Given the description of an element on the screen output the (x, y) to click on. 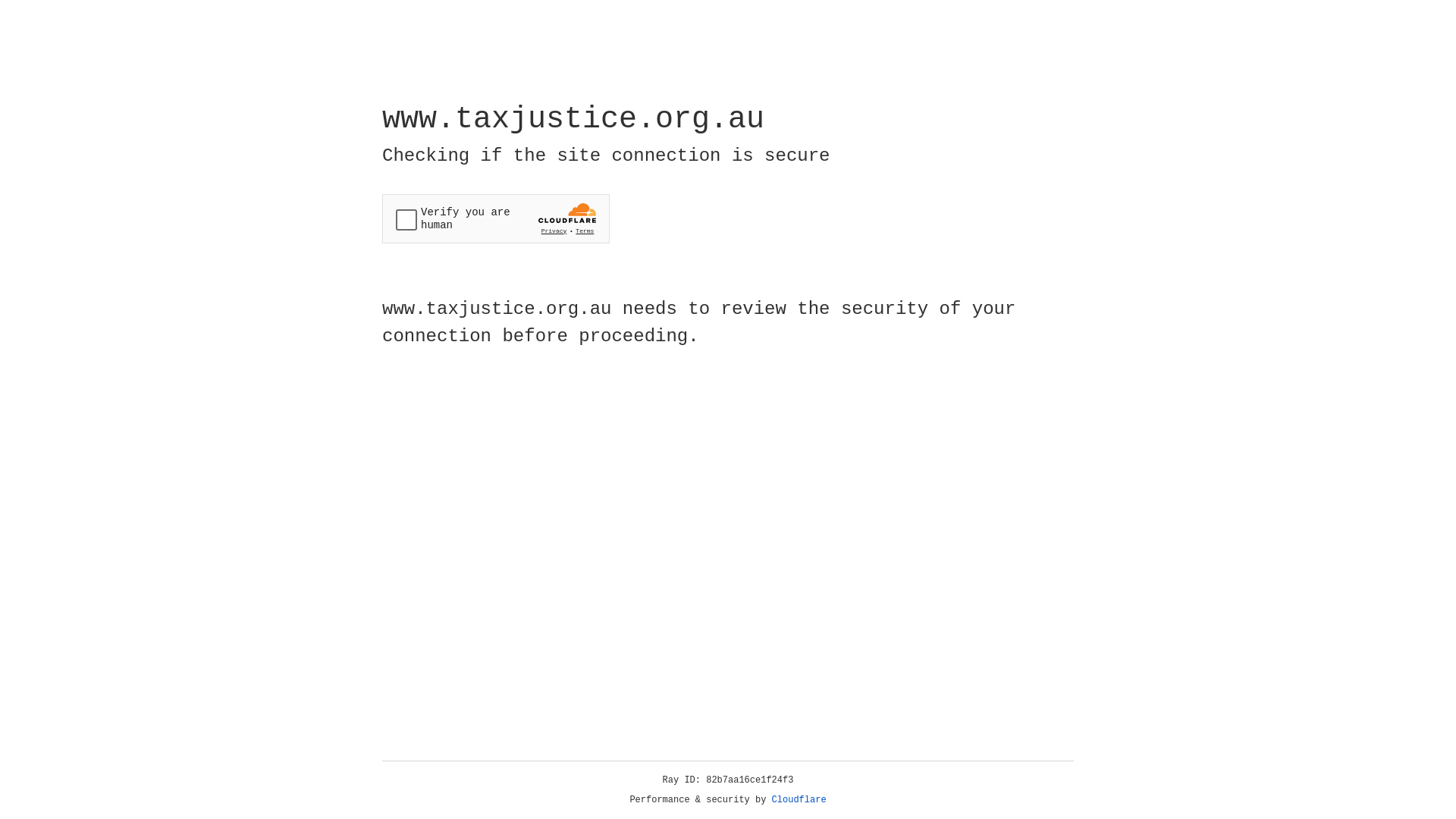
Widget containing a Cloudflare security challenge Element type: hover (495, 218)
Cloudflare Element type: text (798, 799)
